Given the description of an element on the screen output the (x, y) to click on. 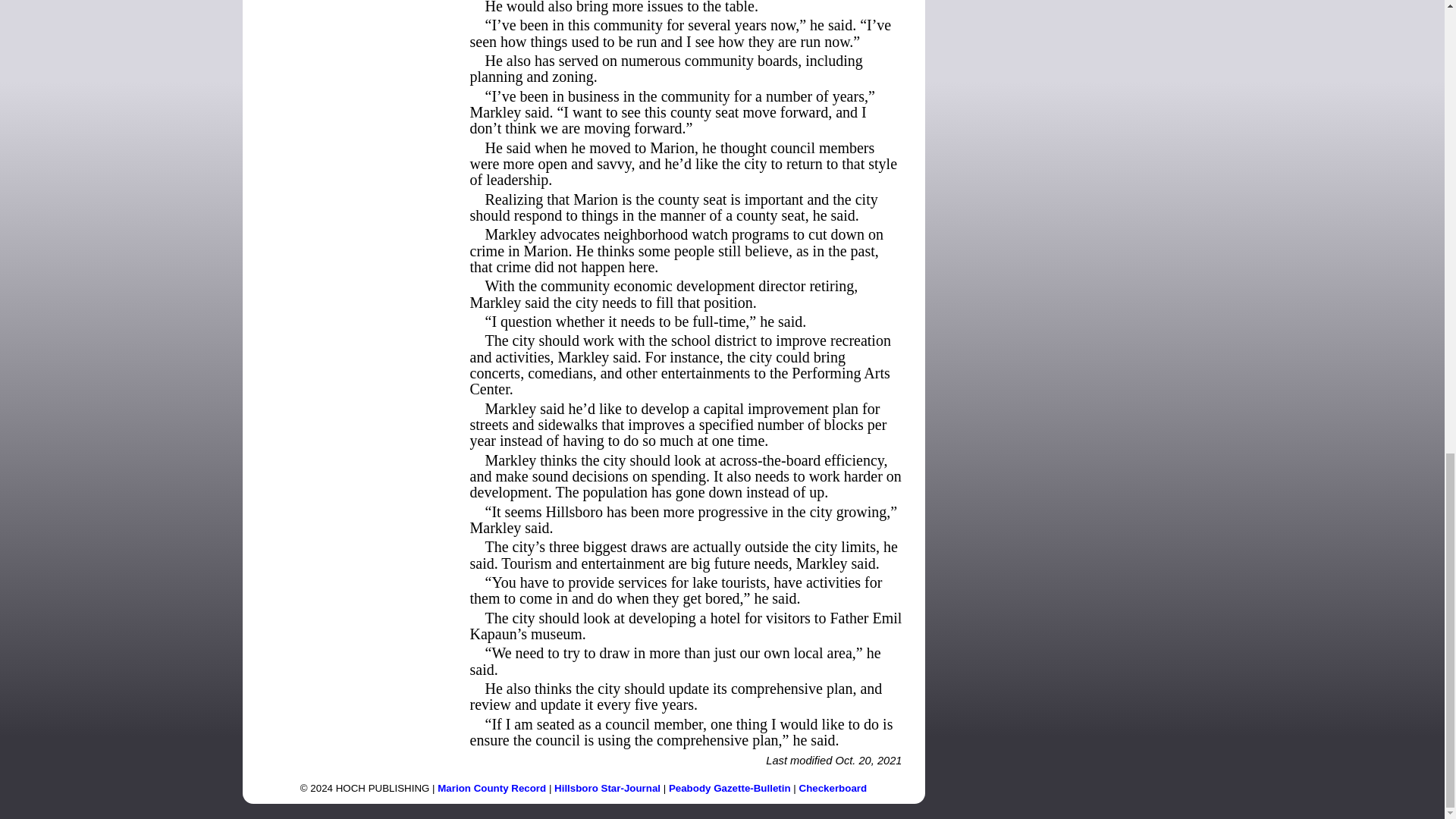
Hillsboro Star-Journal (607, 787)
Peabody Gazette-Bulletin (729, 787)
Marion County Record (492, 787)
Checkerboard (833, 787)
